Given the description of an element on the screen output the (x, y) to click on. 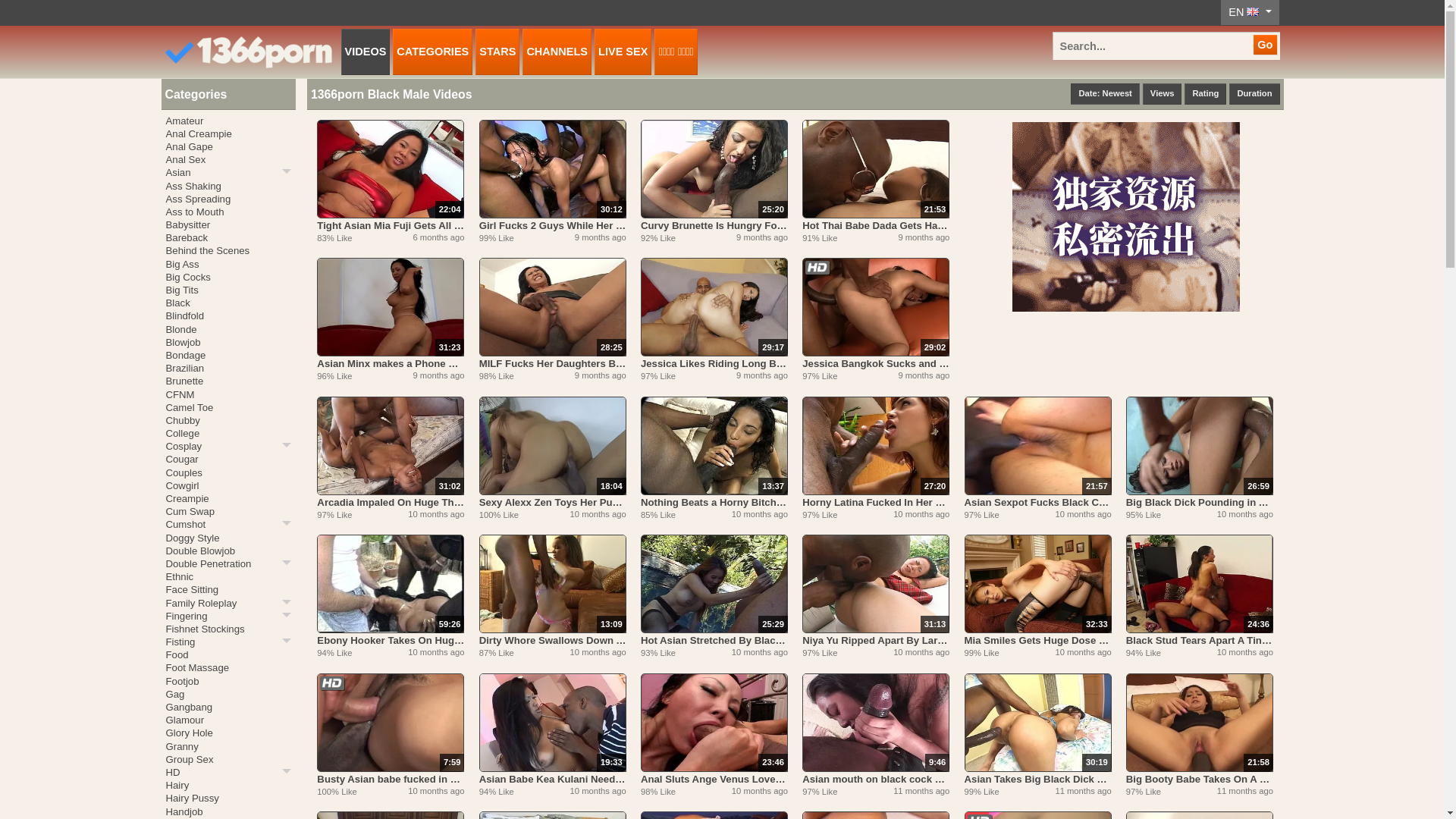
32:33 Element type: text (1037, 583)
30:12 Element type: text (552, 168)
Sexy Alexx Zen Toys Her Pussy And Gets Slammed By Kaution Element type: text (552, 502)
Girl Fucks 2 Guys While Her Man Is Away Element type: text (552, 225)
Big Black Dick Pounding in Asian Slit Element type: text (1199, 502)
Behind the Scenes Element type: text (228, 250)
19:33 Element type: text (552, 722)
VIDEOS Element type: text (365, 51)
Curvy Brunette Is Hungry For Black Jism Element type: text (713, 225)
Ass to Mouth Element type: text (228, 211)
Blonde Element type: text (228, 329)
Ass Shaking Element type: text (228, 184)
Anal Sluts Ange Venus Loves Big Dicks Element type: text (713, 778)
Black Stud Tears Apart A Tiny Vagina Element type: text (1199, 640)
Mia Smiles Gets Huge Dose Of Black Penis Element type: text (1037, 640)
Cowgirl Element type: text (228, 485)
Asian Element type: text (228, 172)
Fisting Element type: text (228, 641)
Duration Element type: text (1254, 93)
MILF Fucks Her Daughters Boyfriend Element type: text (552, 363)
HD Element type: text (228, 771)
Jessica Likes Riding Long Black Cocks Element type: text (713, 363)
25:29 Element type: text (713, 583)
9:46 Element type: text (875, 722)
Gangbang Element type: text (228, 706)
Ass Spreading Element type: text (228, 198)
Cougar Element type: text (228, 458)
Bondage Element type: text (228, 354)
Anal Sex Element type: text (228, 159)
30:19 Element type: text (1037, 722)
21:53 Element type: text (875, 168)
Creampie Element type: text (228, 498)
Hairy Pussy Element type: text (228, 797)
Nothing Beats a Horny Bitch That Can Suck Cock Like a Hoover Element type: text (713, 502)
25:20 Element type: text (713, 168)
Hot Asian Stretched By Black Cock Element type: text (713, 640)
Blowjob Element type: text (228, 341)
31:13 Element type: text (875, 583)
CATEGORIES Element type: text (432, 51)
Horny Latina Fucked In Her Pussy And Ass Element type: text (875, 502)
CFNM Element type: text (228, 394)
29:02 Element type: text (875, 306)
22:04 Element type: text (390, 168)
Chubby Element type: text (228, 420)
Hairy Element type: text (228, 784)
Anal Gape Element type: text (228, 146)
EN Element type: text (1249, 12)
21:58 Element type: text (1199, 722)
Double Blowjob Element type: text (228, 550)
Brazilian Element type: text (228, 367)
Footjob Element type: text (228, 680)
Camel Toe Element type: text (228, 407)
59:26 Element type: text (390, 583)
Group Sex Element type: text (228, 759)
27:20 Element type: text (875, 445)
23:46 Element type: text (713, 722)
Face Sitting Element type: text (228, 589)
Granny Element type: text (228, 746)
29:17 Element type: text (713, 306)
Couples Element type: text (228, 472)
Dirty Whore Swallows Down A Large Dick Element type: text (552, 640)
Family Roleplay Element type: text (228, 602)
Cumshot Element type: text (228, 523)
Cosplay Element type: text (228, 445)
13:37 Element type: text (713, 445)
Food Element type: text (228, 654)
Big Cocks Element type: text (228, 276)
Bareback Element type: text (228, 237)
Black Element type: text (228, 302)
Ebony Hooker Takes On Huge Group Of Guys Element type: text (390, 640)
Fishnet Stockings Element type: text (228, 628)
Tight Asian Mia Fuji Gets All Sticky Element type: text (390, 225)
31:23 Element type: text (390, 306)
Rating Element type: text (1205, 93)
Foot Massage Element type: text (228, 667)
Jessica Bangkok Sucks and Fucks Element type: text (875, 363)
Fingering Element type: text (228, 615)
Big Ass Element type: text (228, 263)
Asian Minx makes a Phone Call to find Herself a Booty Call Element type: text (390, 363)
26:59 Element type: text (1199, 445)
Asian mouth on black cock means a good time for everyone. Element type: text (875, 778)
Big Tits Element type: text (228, 289)
Glamour Element type: text (228, 719)
Niya Yu Ripped Apart By Large Black Cock Element type: text (875, 640)
Big Booty Babe Takes On A Black Cock Element type: text (1199, 778)
Doggy Style Element type: text (228, 537)
Gag Element type: text (228, 693)
Asian Babe Kea Kulani Needs A Black Dick Element type: text (552, 778)
28:25 Element type: text (552, 306)
13:09 Element type: text (552, 583)
Double Penetration Element type: text (228, 563)
24:36 Element type: text (1199, 583)
CHANNELS Element type: text (556, 51)
Cum Swap Element type: text (228, 511)
Busty Asian babe fucked in a hot double penatration session Element type: text (390, 778)
Babysitter Element type: text (228, 224)
Date: Newest Element type: text (1104, 93)
Hot Thai Babe Dada Gets Hard Black Dick Element type: text (875, 225)
Blindfold Element type: text (228, 315)
Go Element type: text (1264, 44)
Asian Sexpot Fucks Black Cock First Time Element type: text (1037, 502)
Amateur Element type: text (228, 120)
Ethnic Element type: text (228, 576)
Glory Hole Element type: text (228, 732)
31:02 Element type: text (390, 445)
STARS Element type: text (497, 51)
Handjob Element type: text (228, 811)
Anal Creampie Element type: text (228, 133)
LIVE SEX Element type: text (622, 51)
College Element type: text (228, 432)
Arcadia Impaled On Huge Thick Man Meat Element type: text (390, 502)
18:04 Element type: text (552, 445)
Brunette Element type: text (228, 380)
Asian Takes Big Black Dick Up Her Asshole! Element type: text (1037, 778)
7:59 Element type: text (390, 722)
21:57 Element type: text (1037, 445)
Views Element type: text (1162, 93)
